Given the description of an element on the screen output the (x, y) to click on. 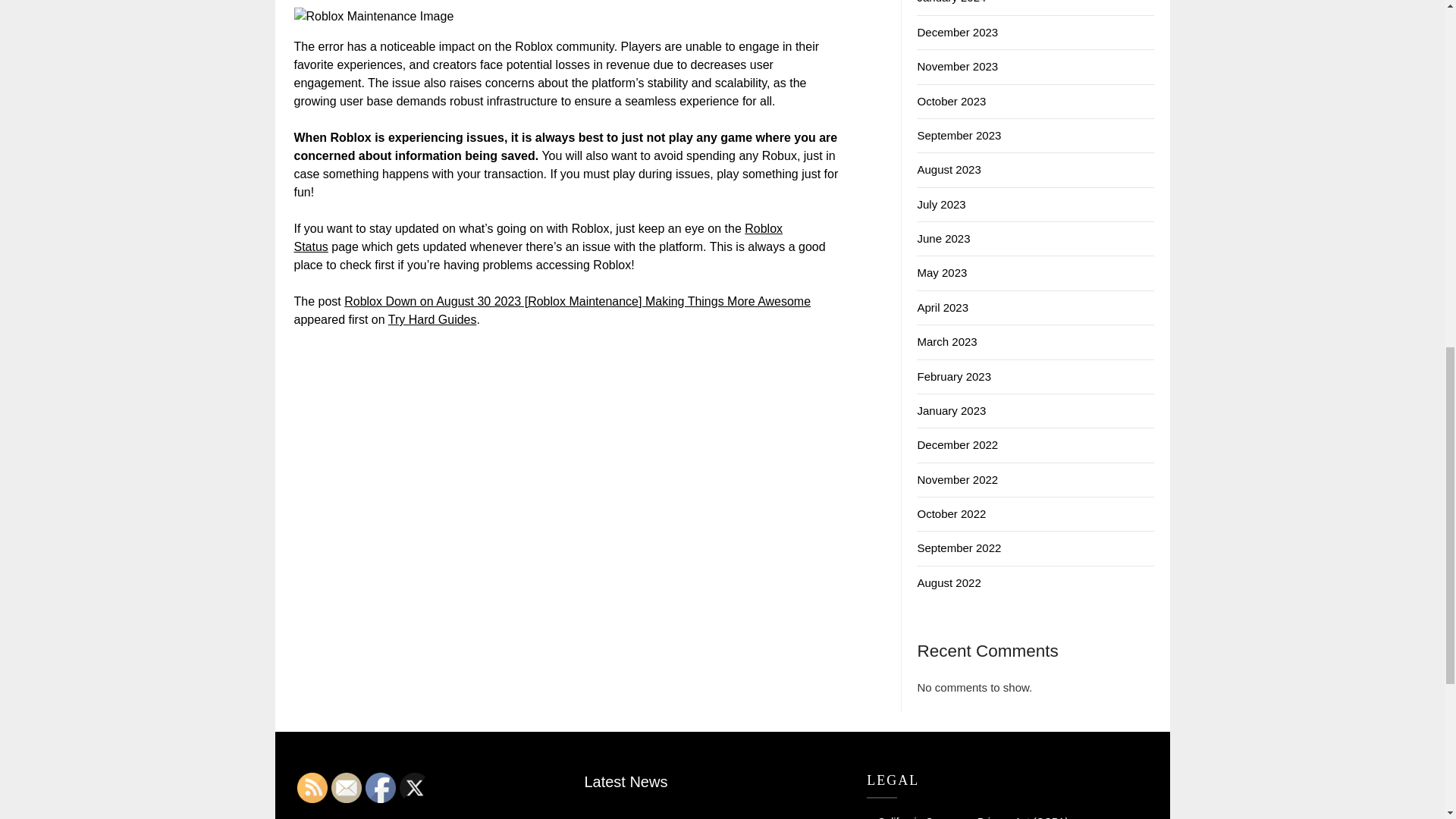
December 2022 (957, 444)
January 2024 (951, 2)
July 2023 (941, 204)
March 2023 (946, 341)
Facebook (380, 788)
RSS (312, 788)
January 2023 (951, 410)
June 2023 (943, 237)
February 2023 (954, 376)
Roblox Status (538, 237)
